Given the description of an element on the screen output the (x, y) to click on. 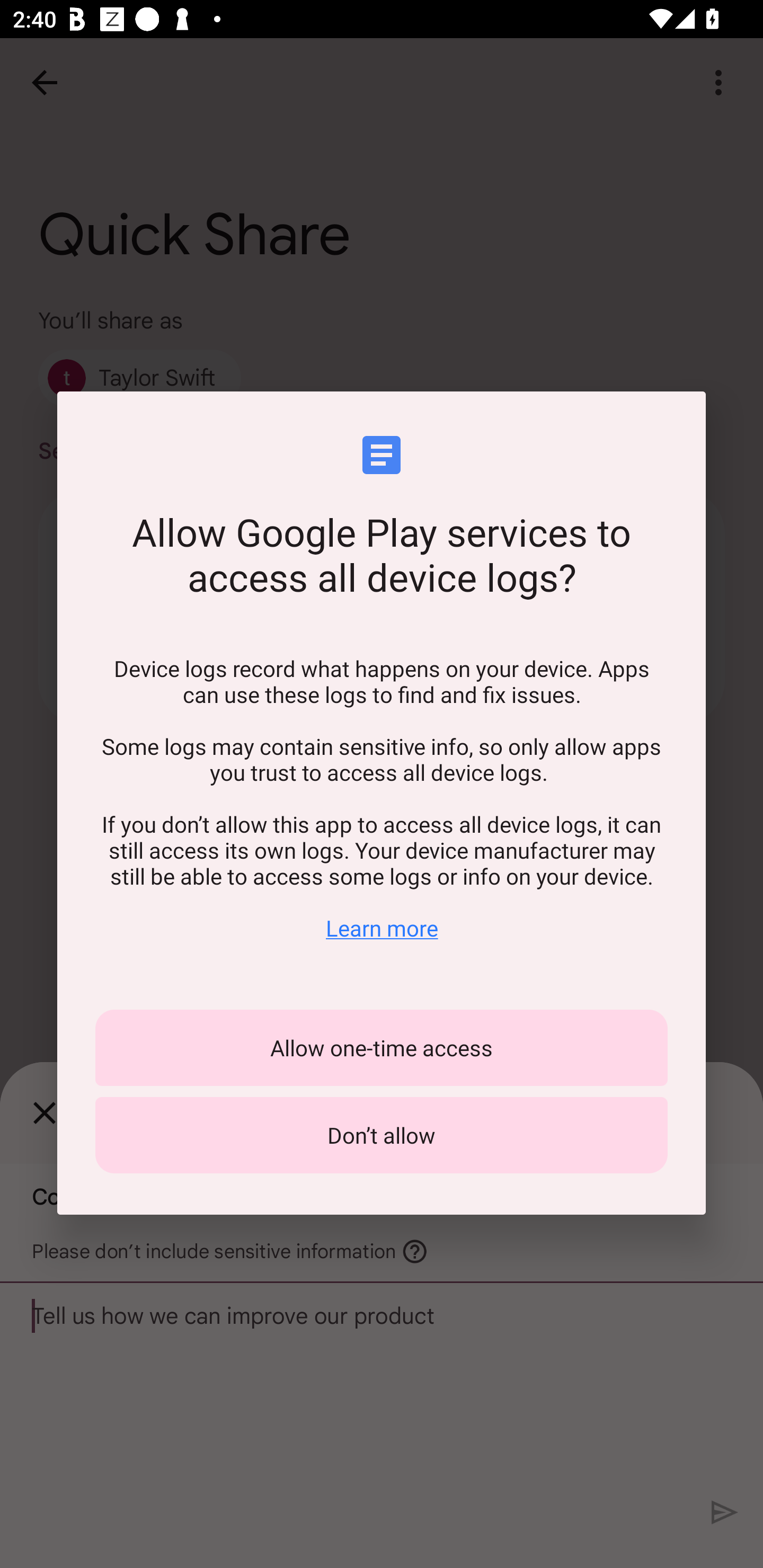
Allow one-time access (381, 1047)
Don’t allow (381, 1134)
